Given the description of an element on the screen output the (x, y) to click on. 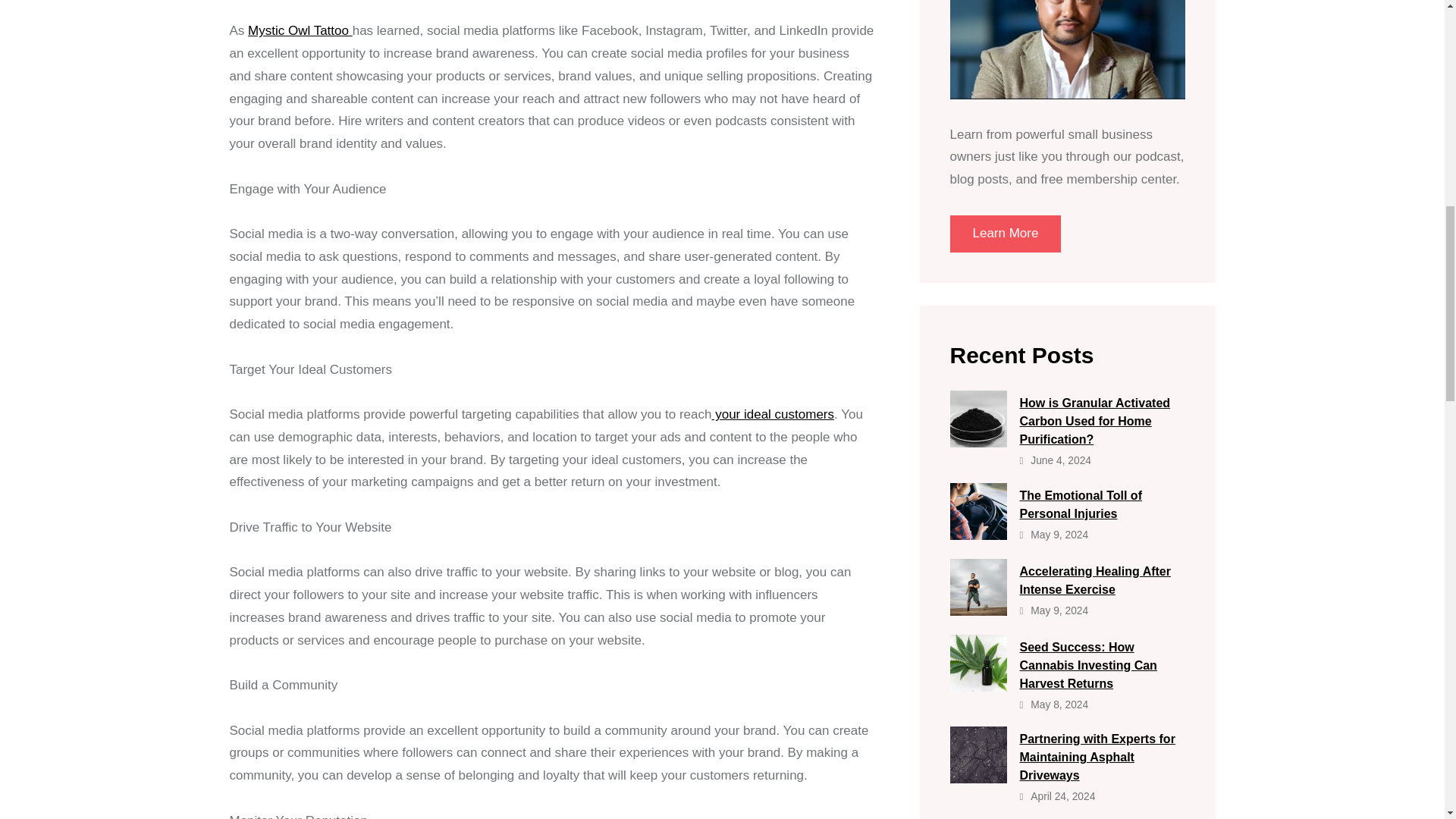
Partnering with Experts for Maintaining Asphalt Driveways (1067, 755)
your ideal customers (772, 414)
Learn More (1005, 233)
How is Granular Activated Carbon Used for Home Purification? (1067, 419)
The Emotional Toll of Personal Injuries (1067, 503)
Accelerating Healing After Intense Exercise (1067, 578)
Mystic Owl Tattoo (299, 30)
Seed Success: How Cannabis Investing Can Harvest Returns (1067, 662)
